Given the description of an element on the screen output the (x, y) to click on. 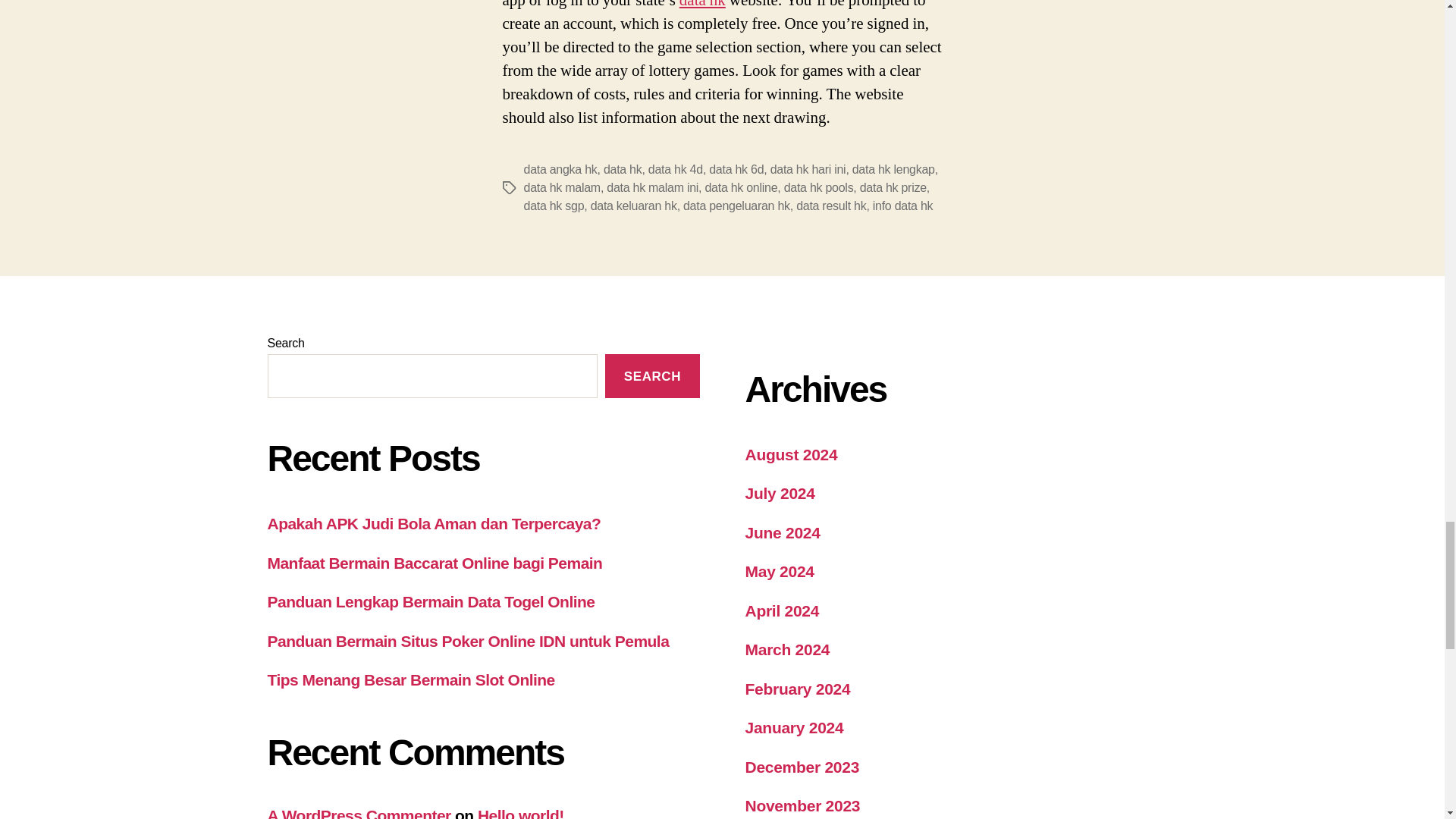
data hk 4d (675, 169)
data hk (702, 5)
data hk (623, 169)
data angka hk (559, 169)
